Given the description of an element on the screen output the (x, y) to click on. 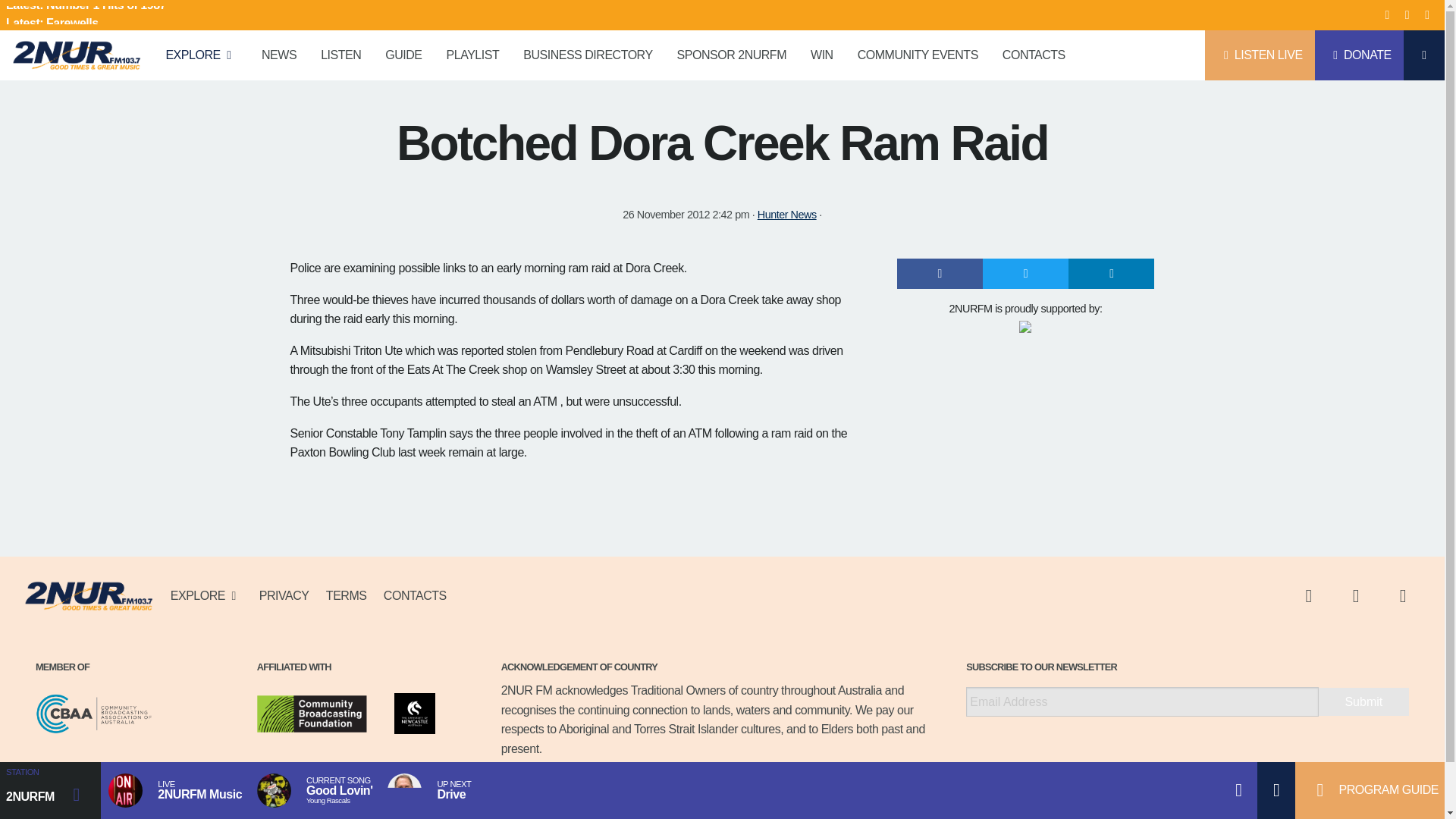
PLAYLIST (472, 55)
COMMUNITY EVENTS (917, 55)
SPONSOR 2NURFM (731, 55)
LISTEN LIVE (1259, 55)
GUIDE (402, 55)
WIN (821, 55)
Latest: Number 1 Hits of 1987 (179, 14)
EXPLORE (200, 55)
BUSINESS DIRECTORY (587, 55)
Submit (1364, 701)
CONTACTS (1033, 55)
NEWS (278, 55)
